Given the description of an element on the screen output the (x, y) to click on. 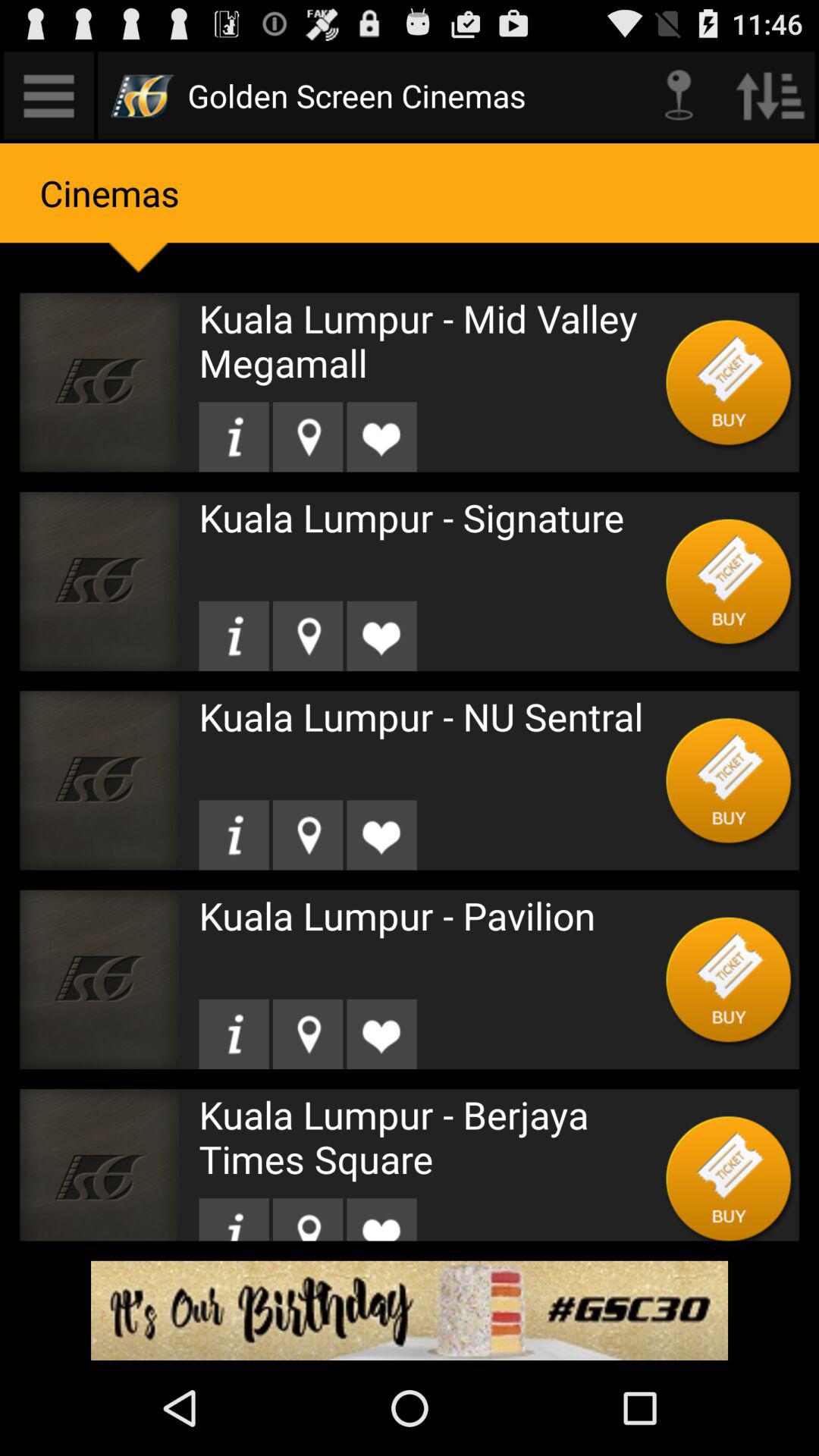
go to location (307, 1034)
